Given the description of an element on the screen output the (x, y) to click on. 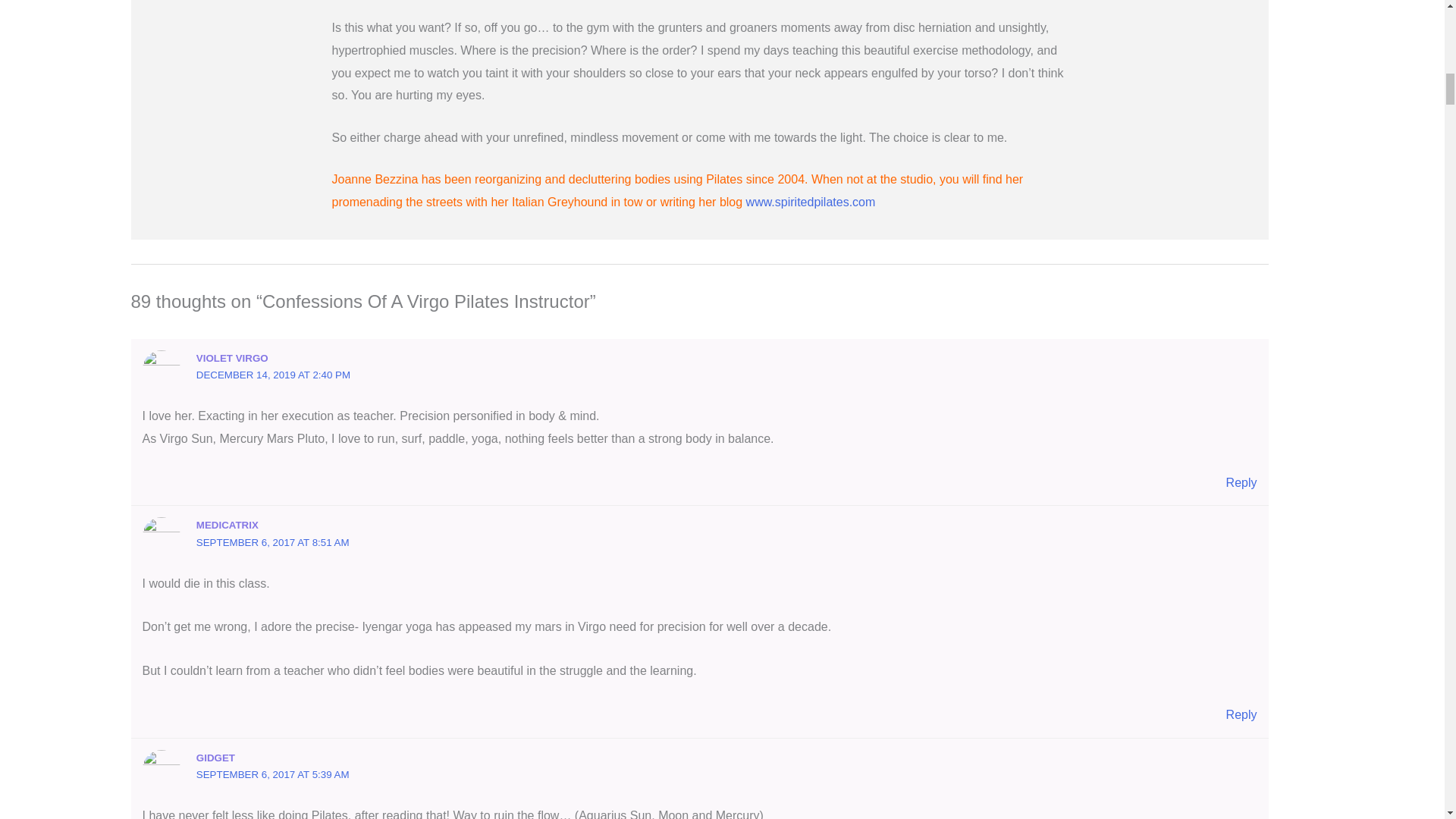
www.spiritedpilates.com (808, 201)
SEPTEMBER 6, 2017 AT 5:39 AM (272, 774)
Reply (1241, 714)
SEPTEMBER 6, 2017 AT 8:51 AM (272, 542)
Reply (1241, 481)
DECEMBER 14, 2019 AT 2:40 PM (273, 374)
